Given the description of an element on the screen output the (x, y) to click on. 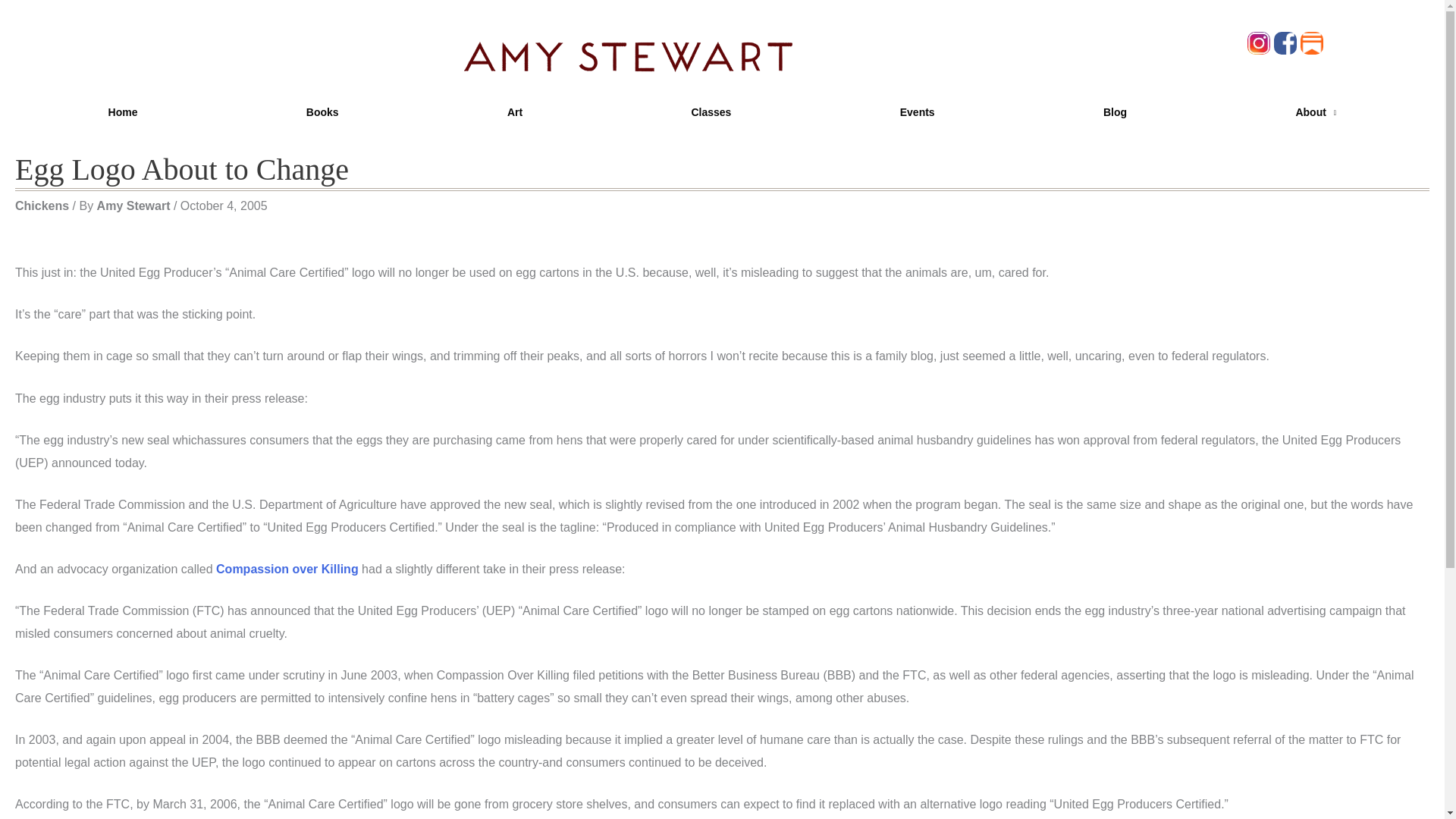
Events (916, 111)
Home (122, 111)
Classes (710, 111)
Books (322, 111)
About (1315, 111)
Amy Stewart on Instagram (1260, 42)
Amy Stewart on Substack (1313, 42)
Amy Stewart on Facebook (1287, 42)
Compassion over Killing (286, 568)
Blog (1115, 111)
Amy Stewart (135, 205)
View all posts by Amy Stewart (135, 205)
Chickens (41, 205)
